Given the description of an element on the screen output the (x, y) to click on. 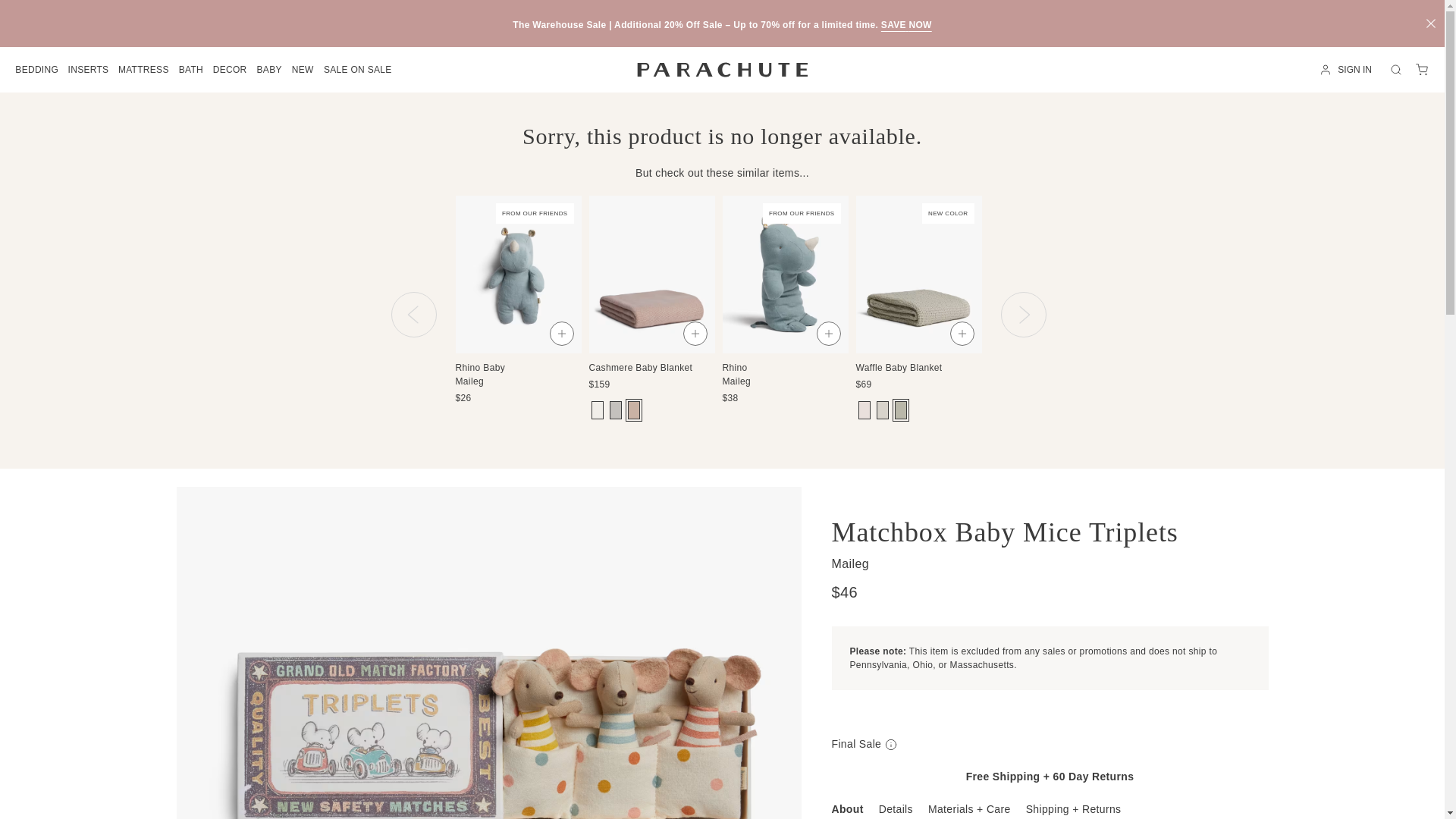
MATTRESS (143, 69)
SALE ON SALE (358, 69)
Quick View (560, 333)
BEDDING (36, 69)
SIGN IN (1348, 69)
SAVE NOW (905, 24)
Quick View (827, 333)
Quick View (1227, 333)
Rhino Baby (517, 363)
Quick View (961, 333)
INSERTS (86, 69)
Quick View (694, 333)
Rhino (784, 363)
DECOR (229, 69)
Quick View (1094, 333)
